Given the description of an element on the screen output the (x, y) to click on. 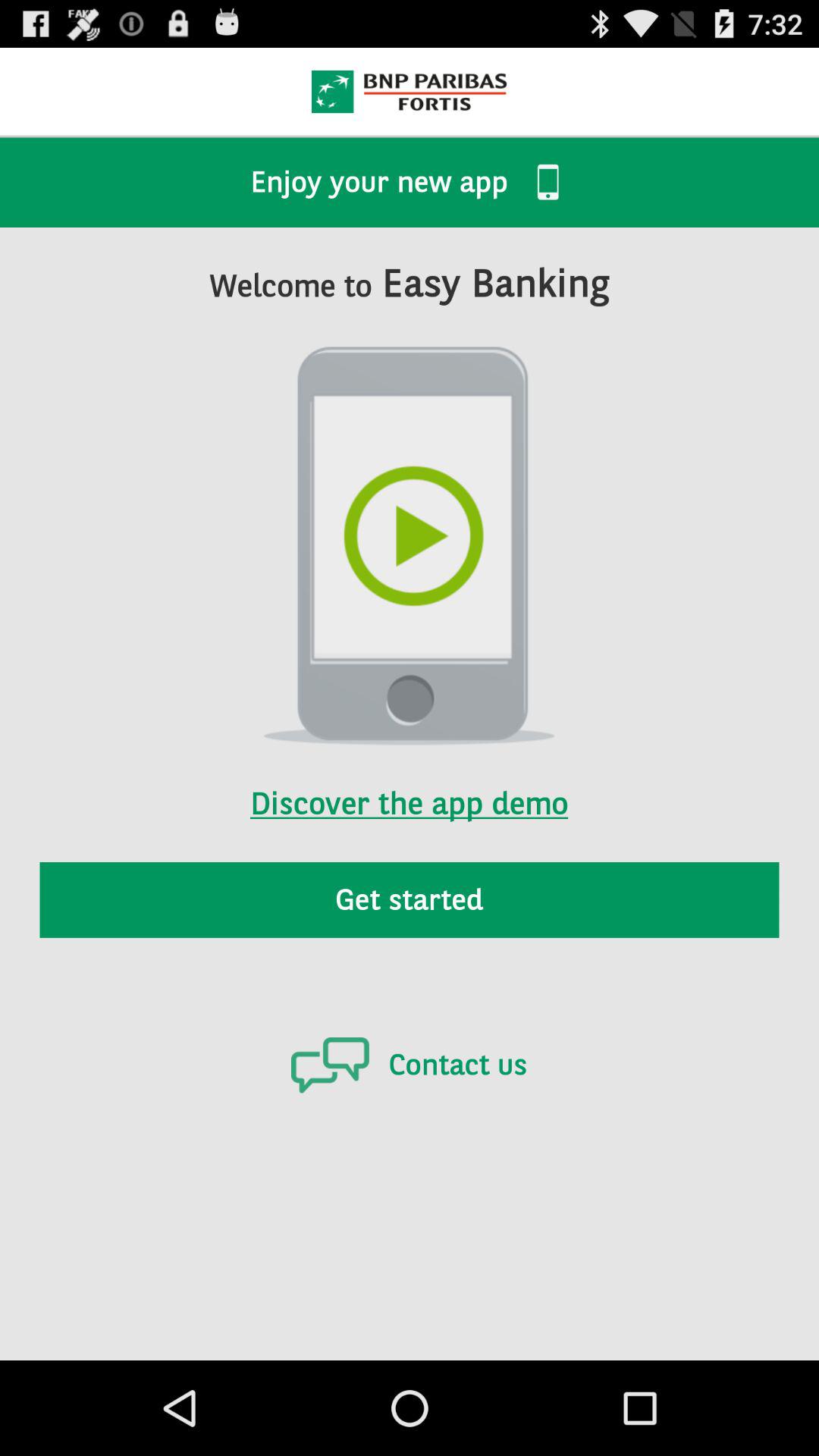
swipe until the discover the app item (409, 783)
